Given the description of an element on the screen output the (x, y) to click on. 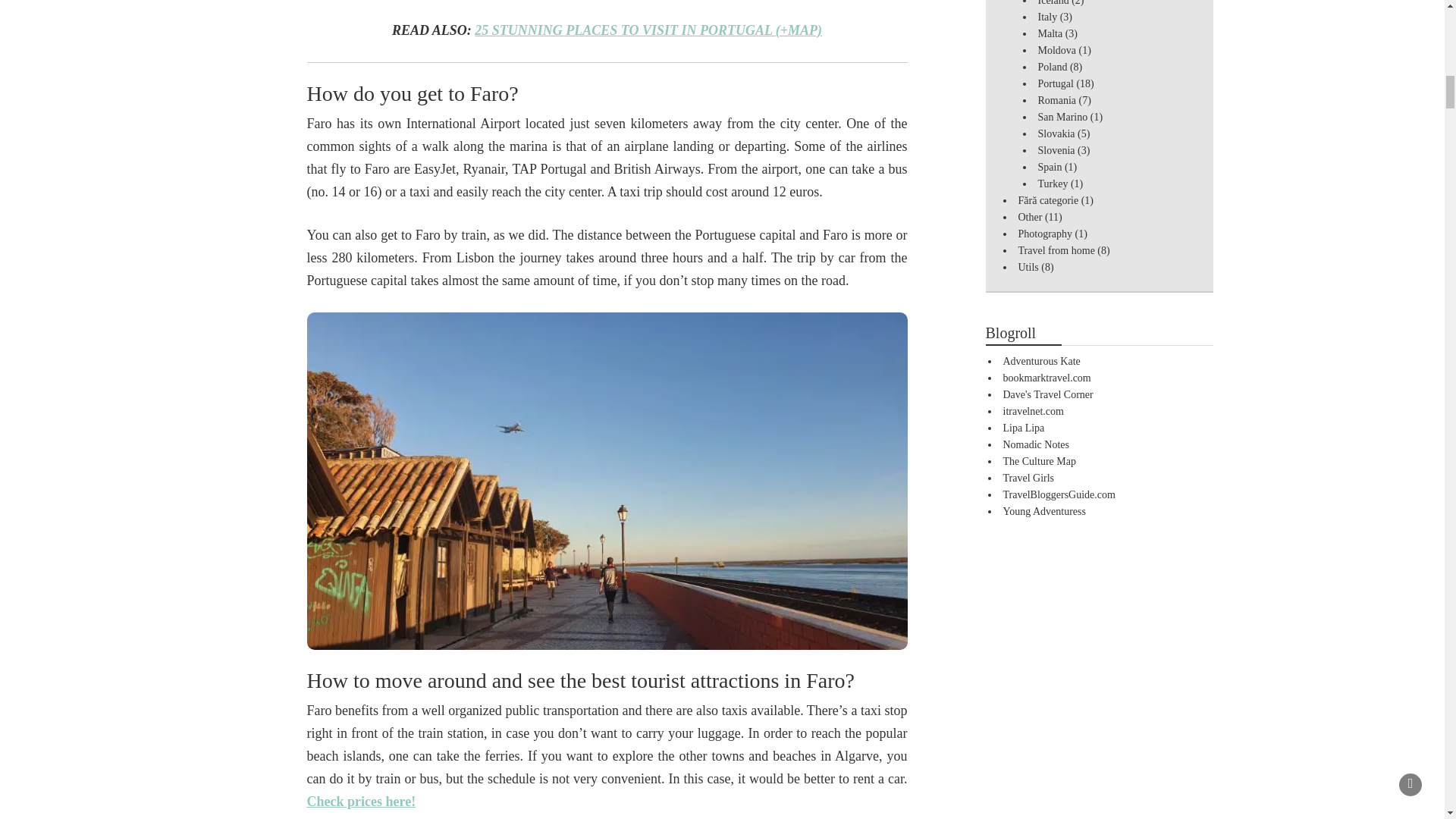
Travel Bloggers Guide (1059, 494)
A comprehensive directory of all things travel. (1046, 378)
My favourite travel blog (1041, 360)
Nomadic Notes (1035, 444)
Travel directory (1032, 410)
